Given the description of an element on the screen output the (x, y) to click on. 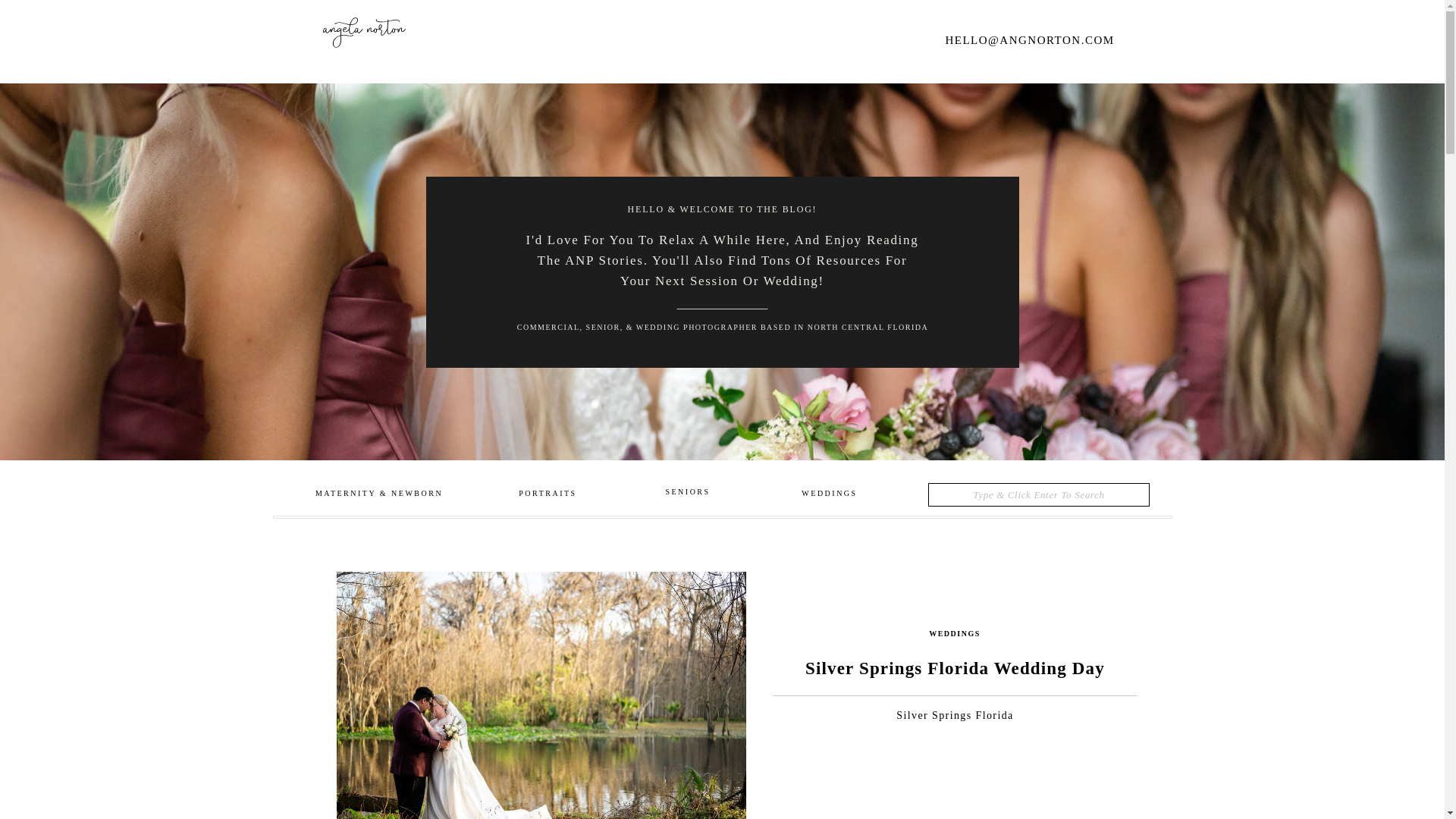
Silver Springs Florida Wedding Day (540, 687)
